Given the description of an element on the screen output the (x, y) to click on. 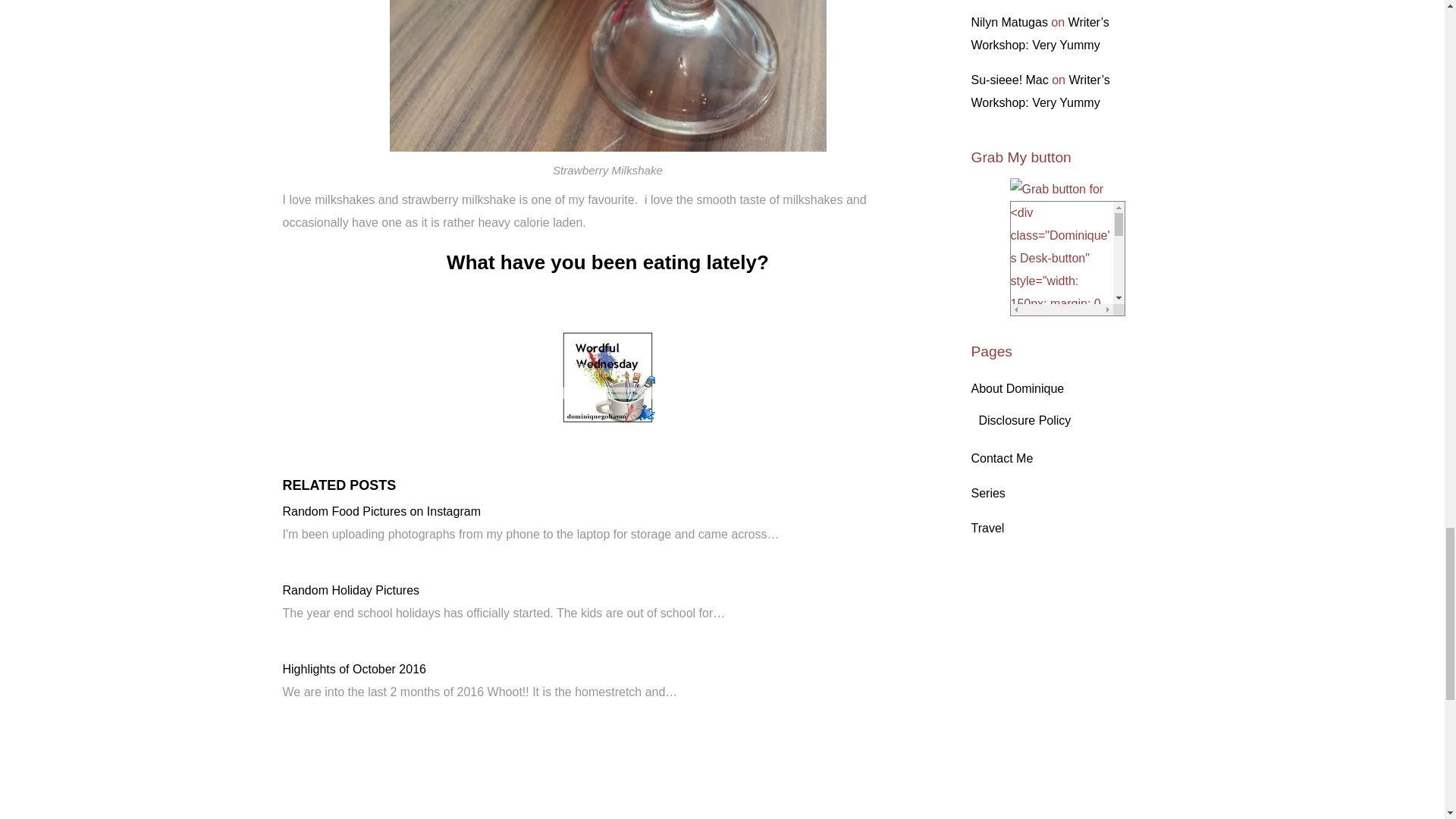
Highlights of October 2016 (353, 668)
Random Food Pictures on Instagram (381, 511)
Random Holiday Pictures (350, 590)
